Given the description of an element on the screen output the (x, y) to click on. 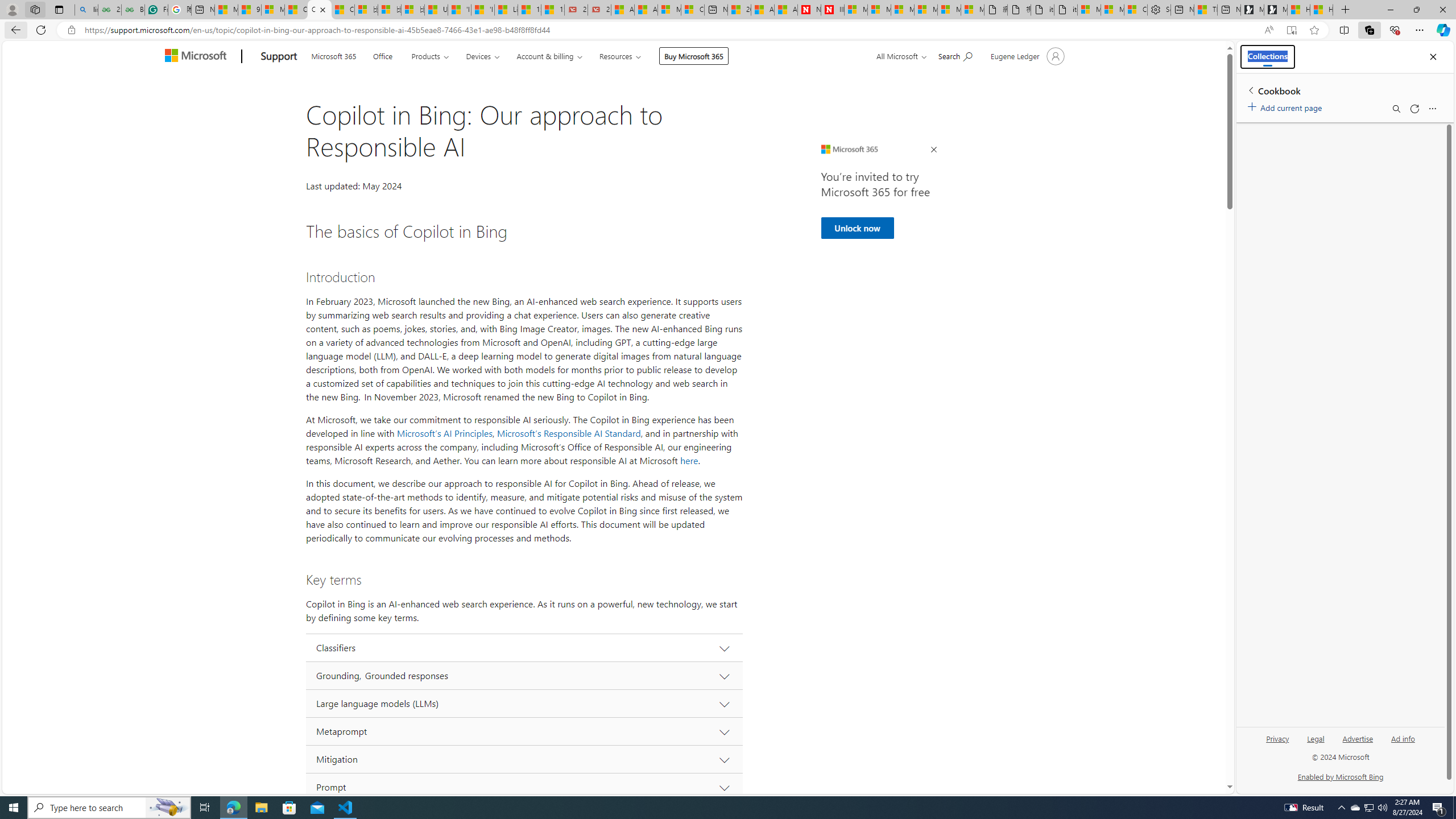
More options menu (1432, 108)
Unlock now (857, 228)
here (688, 460)
Add current page (1286, 105)
Illness news & latest pictures from Newsweek.com (832, 9)
